Given the description of an element on the screen output the (x, y) to click on. 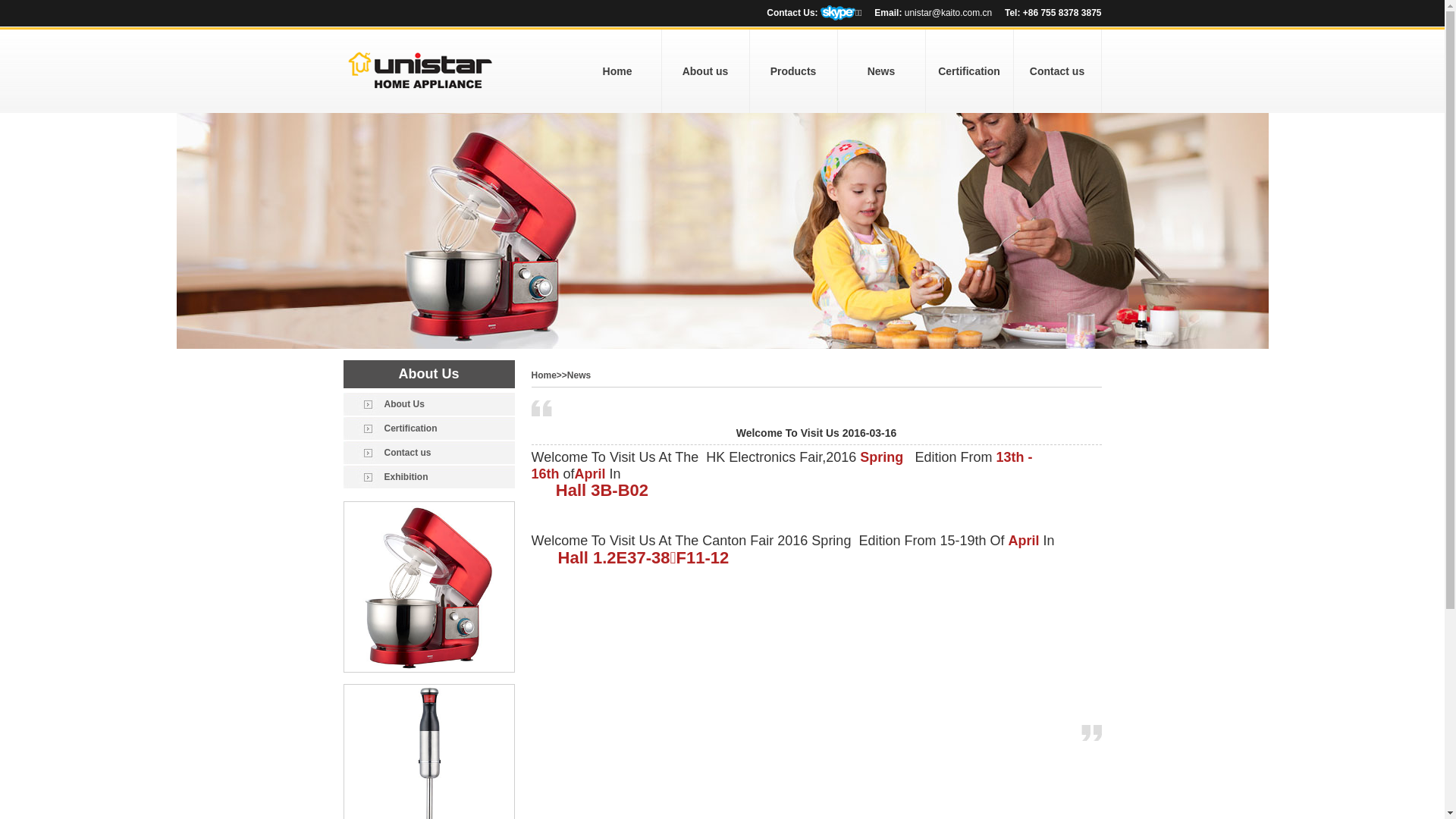
Exhibition Element type: text (428, 476)
Home Element type: text (617, 70)
News Element type: text (881, 70)
unistar@kaito.com.cn Element type: text (948, 12)
Certification Element type: text (428, 428)
Contact us Element type: text (1057, 70)
About Us Element type: text (428, 403)
Contact us Element type: text (428, 452)
About us Element type: text (705, 70)
Certification Element type: text (969, 70)
Products Element type: text (793, 70)
Home Element type: text (542, 375)
